Given the description of an element on the screen output the (x, y) to click on. 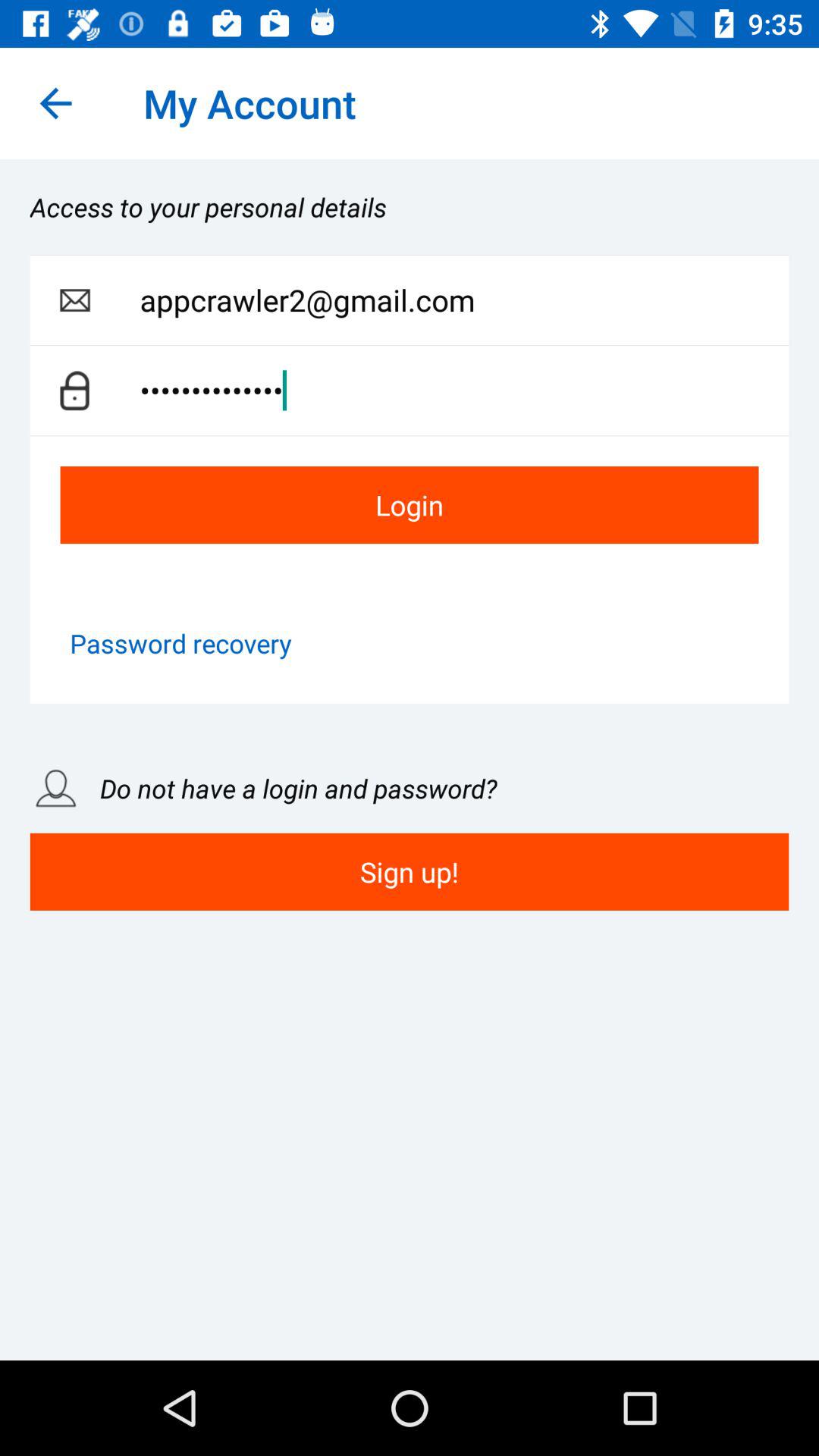
press app to the left of the my account item (55, 103)
